Given the description of an element on the screen output the (x, y) to click on. 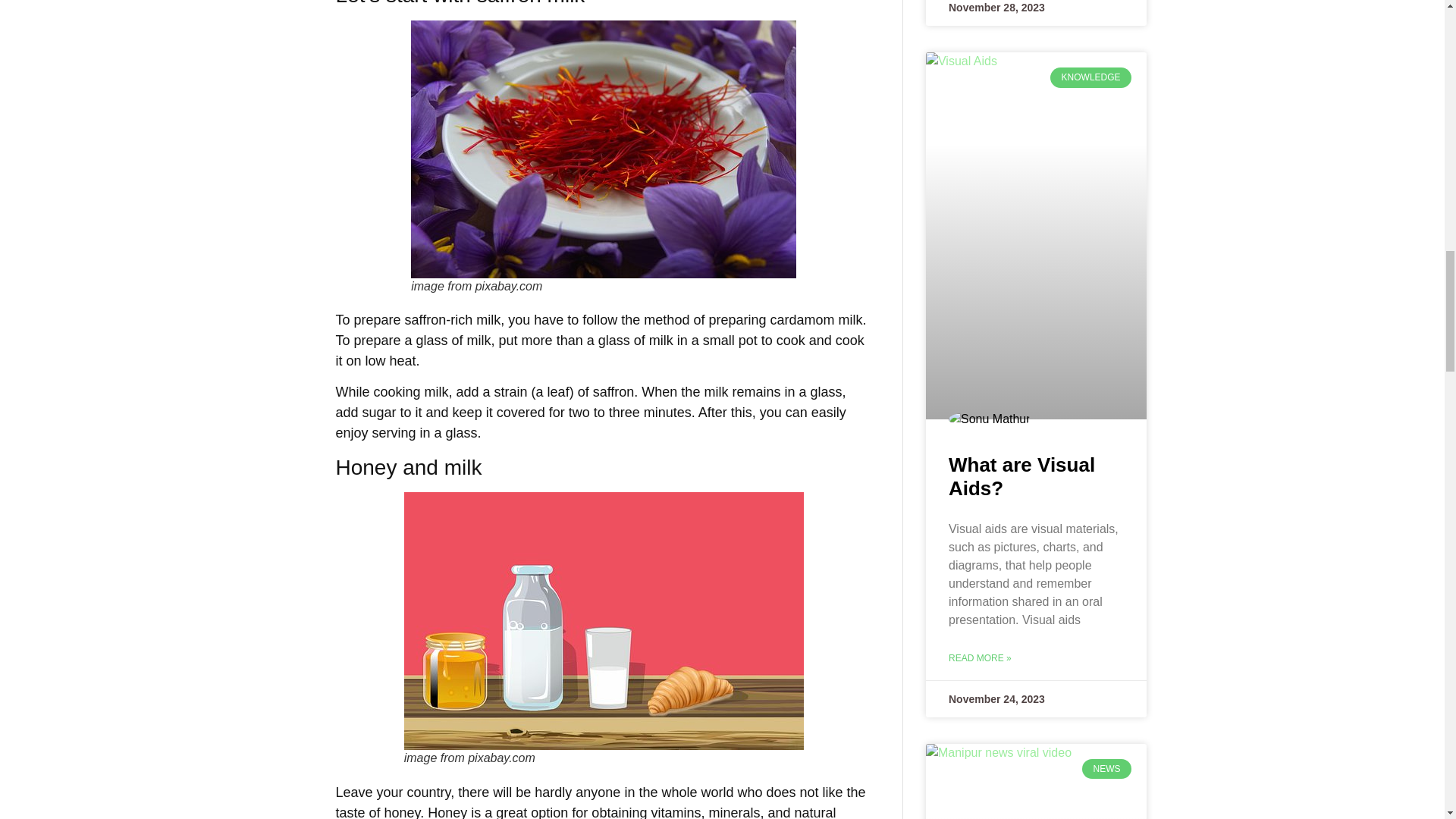
saffron (603, 149)
Honey and milk (603, 621)
What are Visual Aids? (1021, 476)
